Given the description of an element on the screen output the (x, y) to click on. 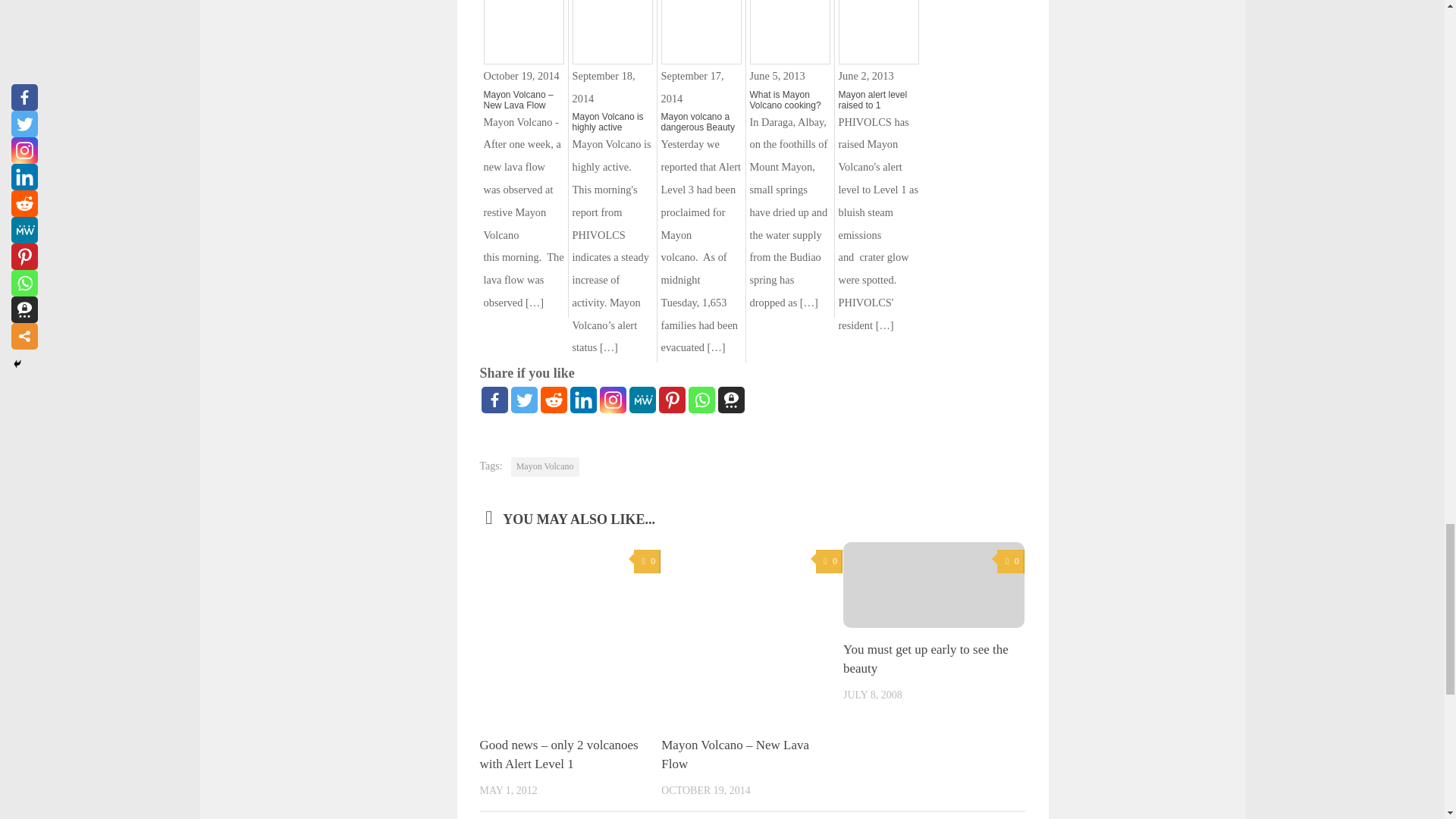
What is Mayon Volcano cooking? (789, 99)
Mayon alert level raised to 1 (878, 99)
Mayon volcano a dangerous Beauty (701, 121)
Mayon Volcano is highly active (612, 121)
